Given the description of an element on the screen output the (x, y) to click on. 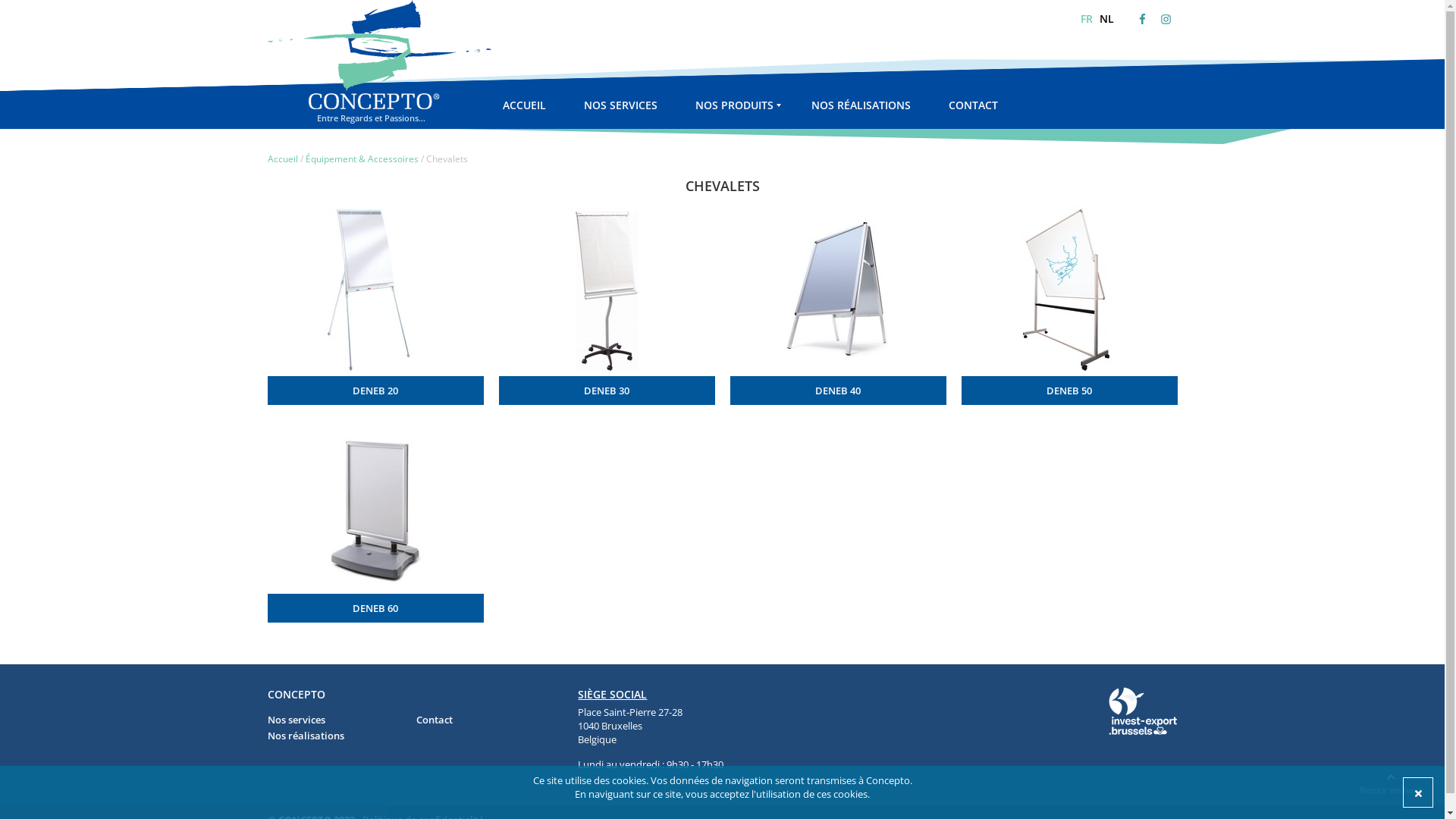
CONTACT Element type: text (972, 109)
DENEB 40 Element type: text (837, 390)
NOS PRODUITS Element type: text (733, 109)
DENEB 60 Element type: text (374, 607)
DENEB 30 Element type: text (606, 390)
DENEB 50 Element type: text (1069, 390)
Contact Element type: text (434, 719)
NOS SERVICES Element type: text (620, 109)
DENEB 20 Element type: text (374, 390)
Nos services Element type: text (295, 719)
Accueil Element type: text (281, 158)
NL Element type: text (1106, 18)
FR Element type: text (1085, 18)
ACCUEIL Element type: text (523, 109)
